Given the description of an element on the screen output the (x, y) to click on. 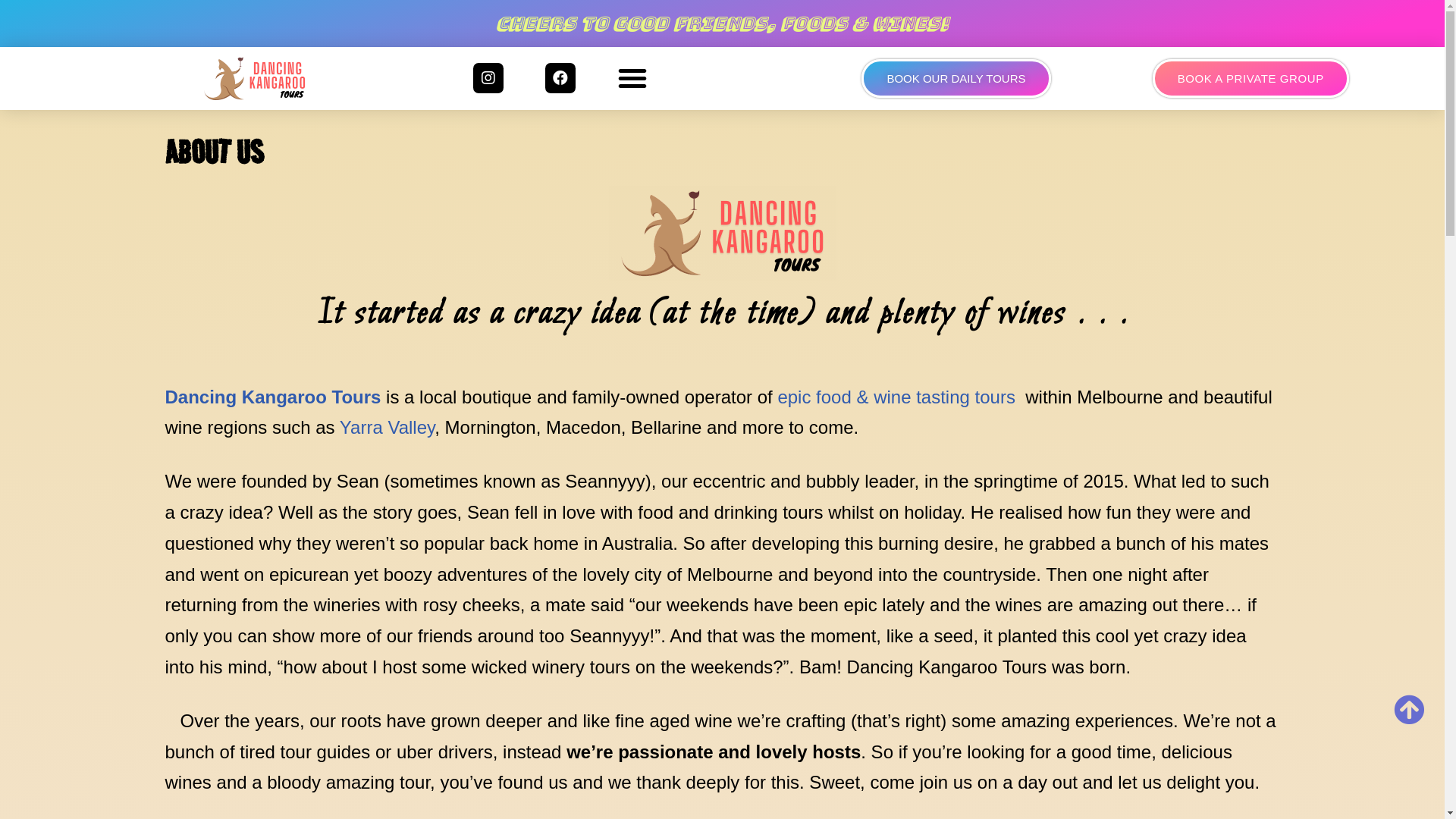
epic food & wine tasting tours Element type: text (893, 396)
Dancing Kangaroo Tours Element type: hover (254, 78)
Dancing Kangaroo Tours Element type: text (273, 396)
BOOK OUR DAILY TOURS Element type: text (955, 78)
Skip to content Element type: text (11, 31)
BOOK A PRIVATE GROUP Element type: text (1250, 78)
Yarra Valley Element type: text (386, 427)
